Given the description of an element on the screen output the (x, y) to click on. 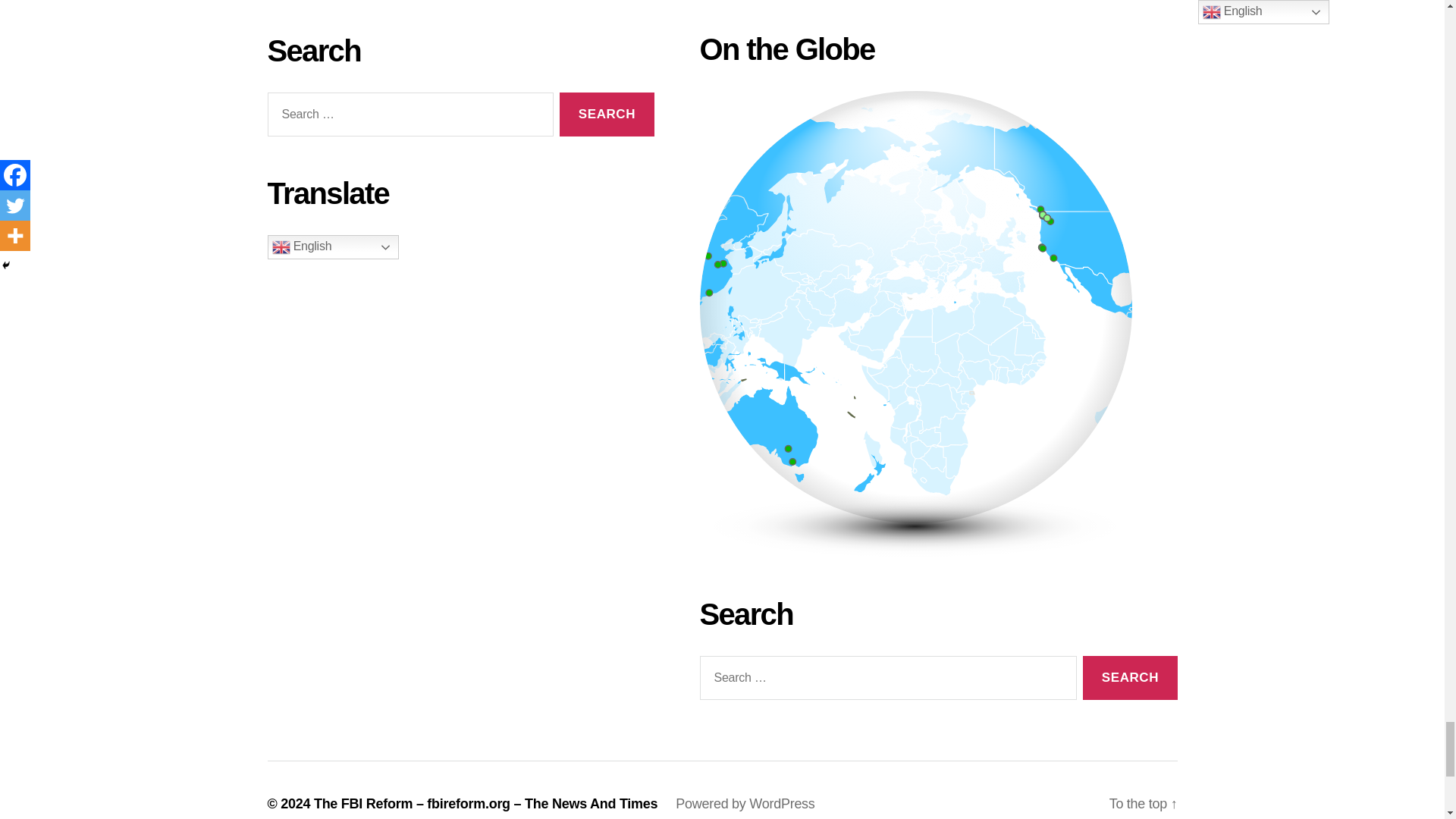
Search (1129, 678)
Search (1129, 678)
Search (606, 114)
Search (606, 114)
